Given the description of an element on the screen output the (x, y) to click on. 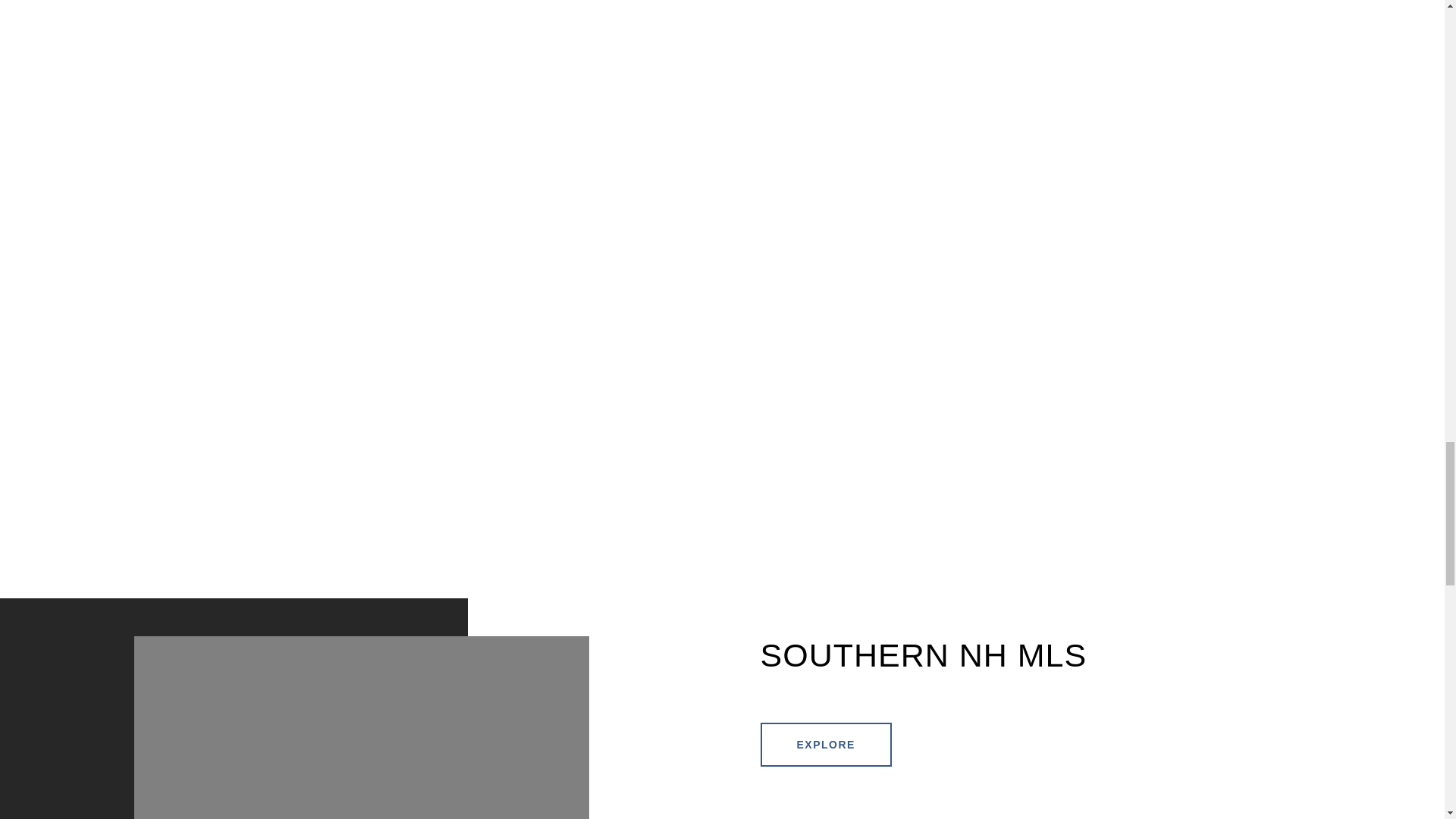
EXPLORE (825, 744)
